Given the description of an element on the screen output the (x, y) to click on. 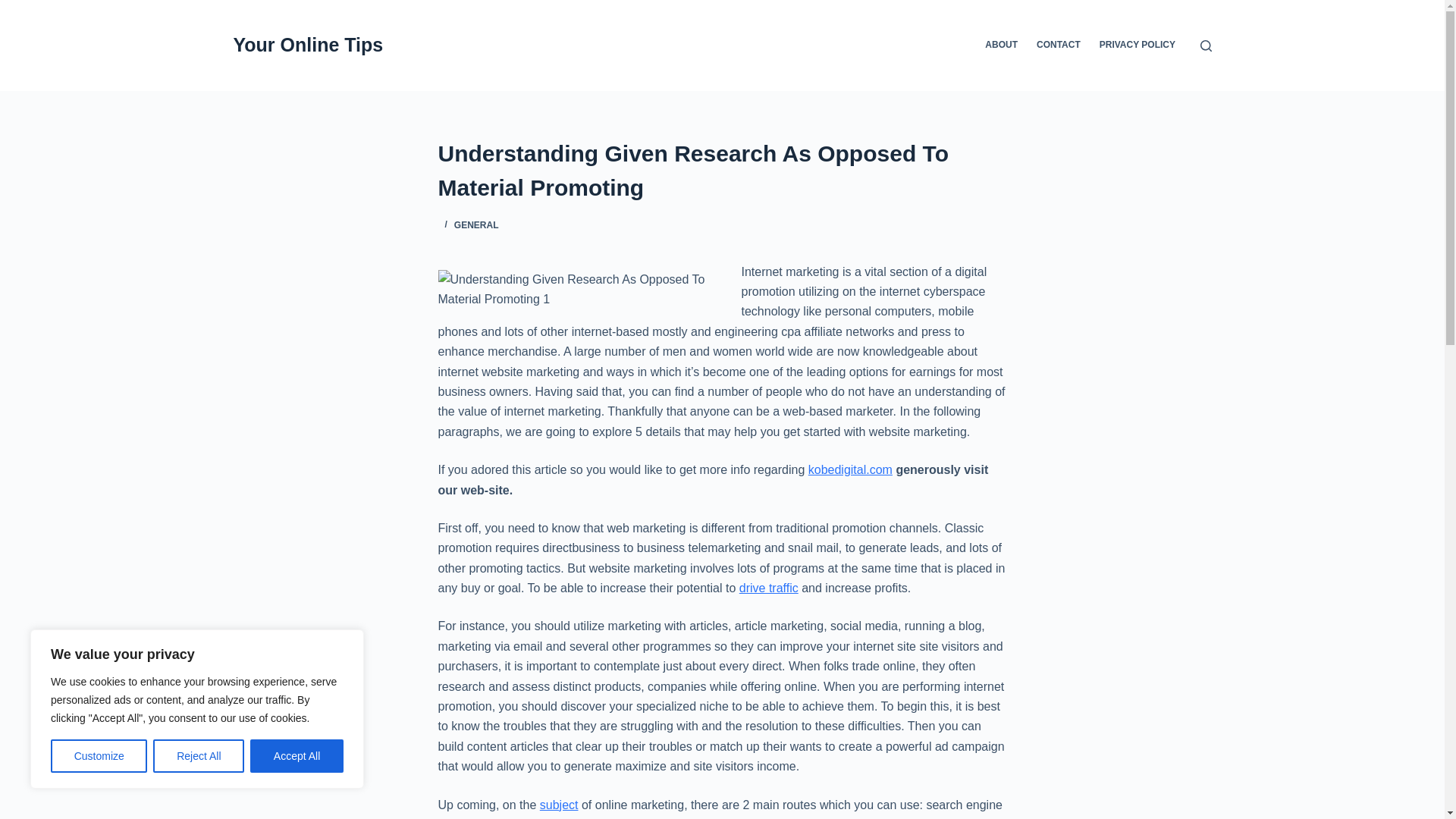
Reject All (198, 756)
Accept All (296, 756)
PRIVACY POLICY (1137, 45)
Customize (98, 756)
Skip to content (15, 7)
Your Online Tips (308, 44)
subject (559, 804)
kobedigital.com (850, 469)
GENERAL (476, 225)
